Given the description of an element on the screen output the (x, y) to click on. 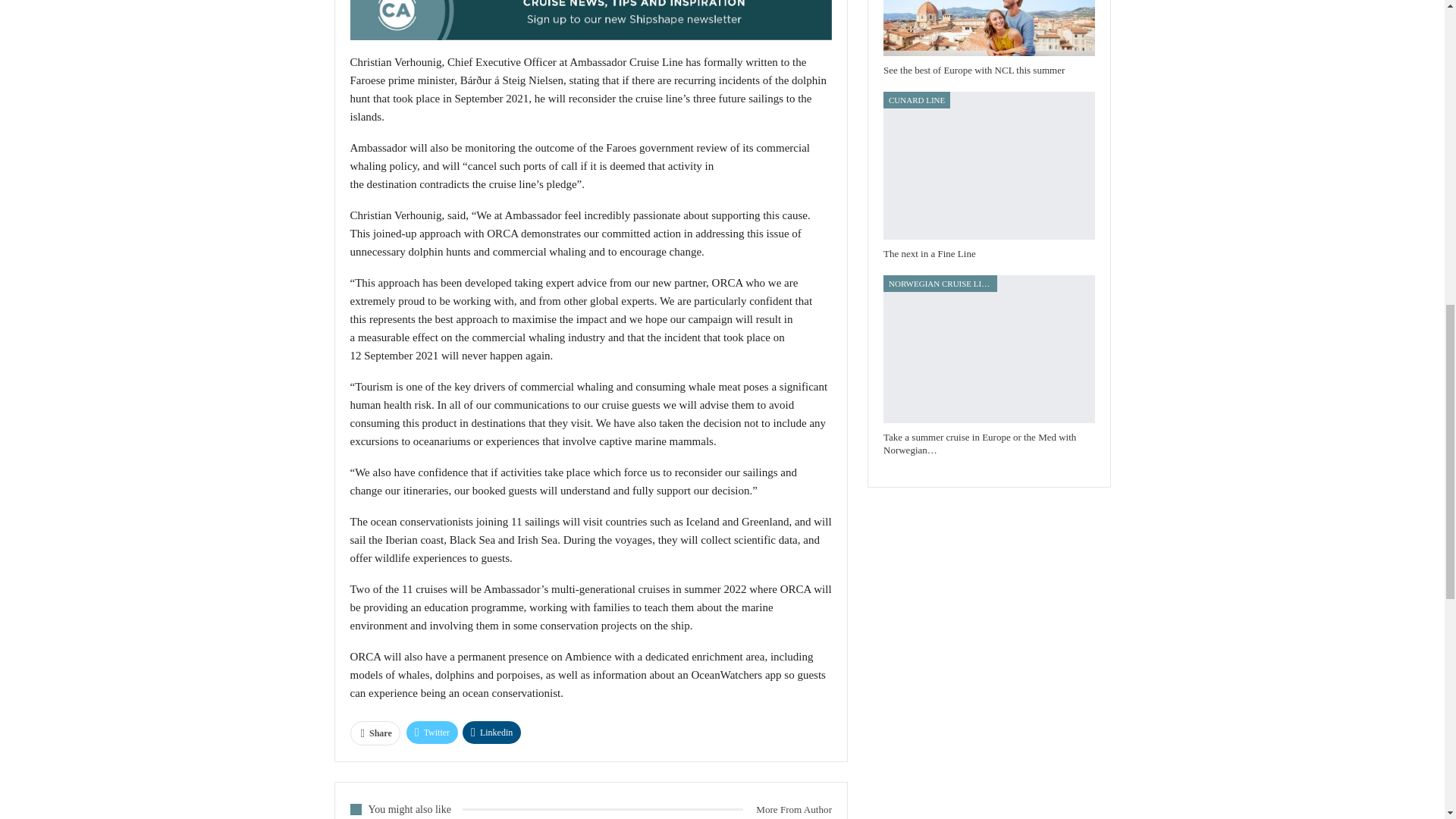
Twitter (432, 732)
More From Author (786, 809)
See the best of Europe with NCL this summer (988, 28)
Linkedin (492, 732)
The next in a Fine Line (988, 165)
See the best of Europe with NCL this summer (973, 70)
You might also like (406, 808)
The next in a Fine Line (929, 253)
